Given the description of an element on the screen output the (x, y) to click on. 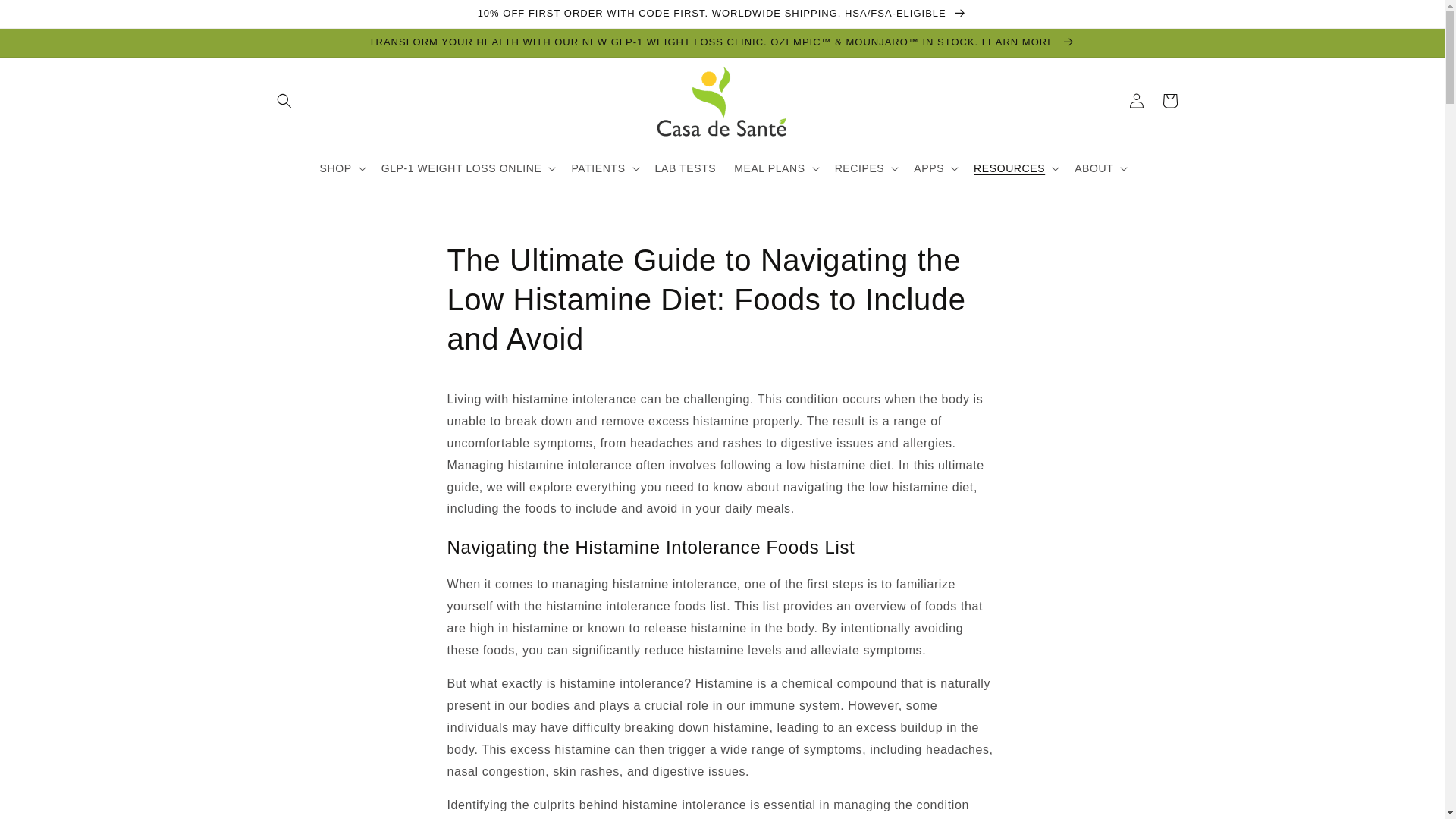
Skip to content (46, 18)
